Given the description of an element on the screen output the (x, y) to click on. 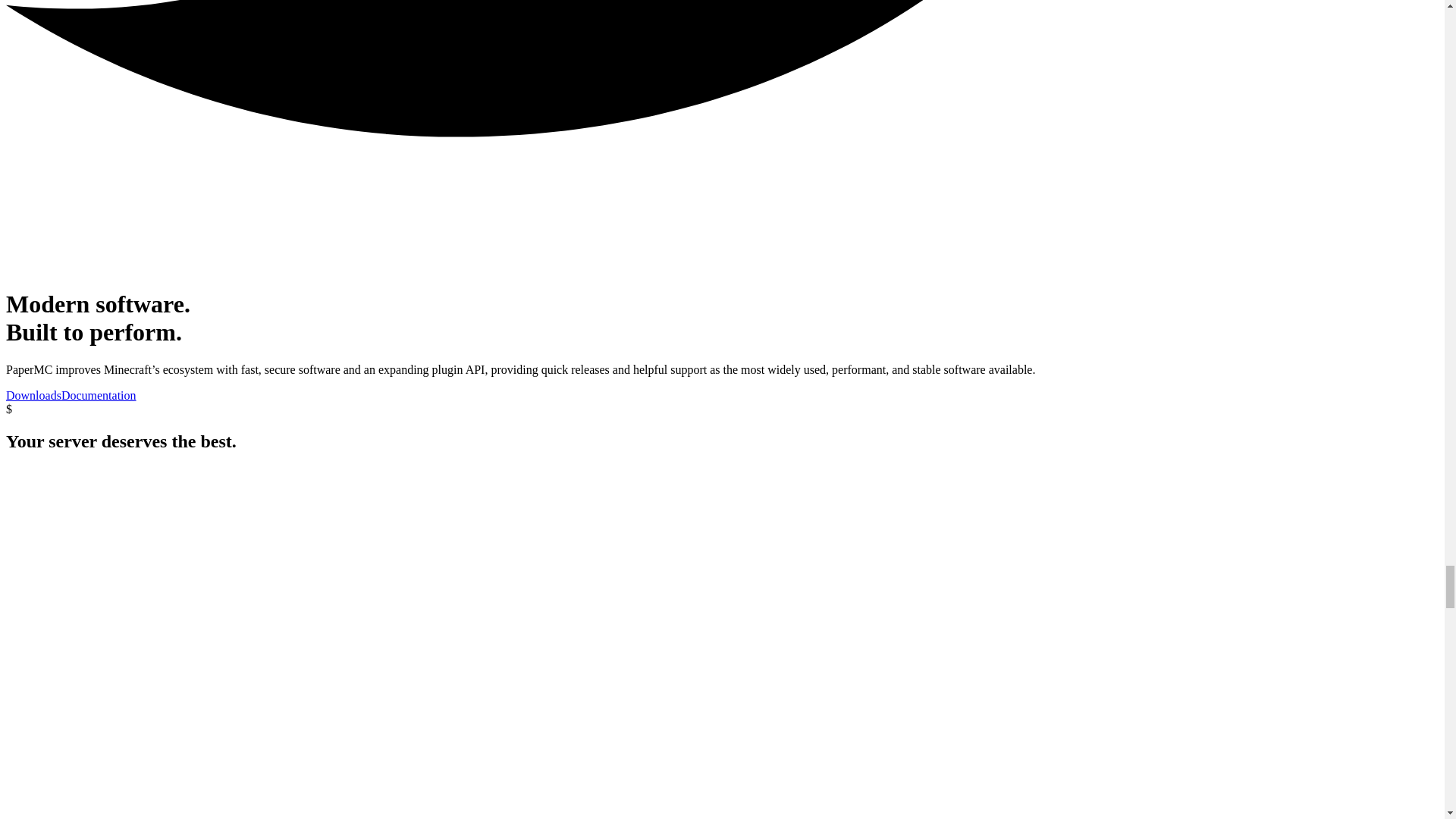
Downloads (33, 395)
Documentation (98, 395)
